Given the description of an element on the screen output the (x, y) to click on. 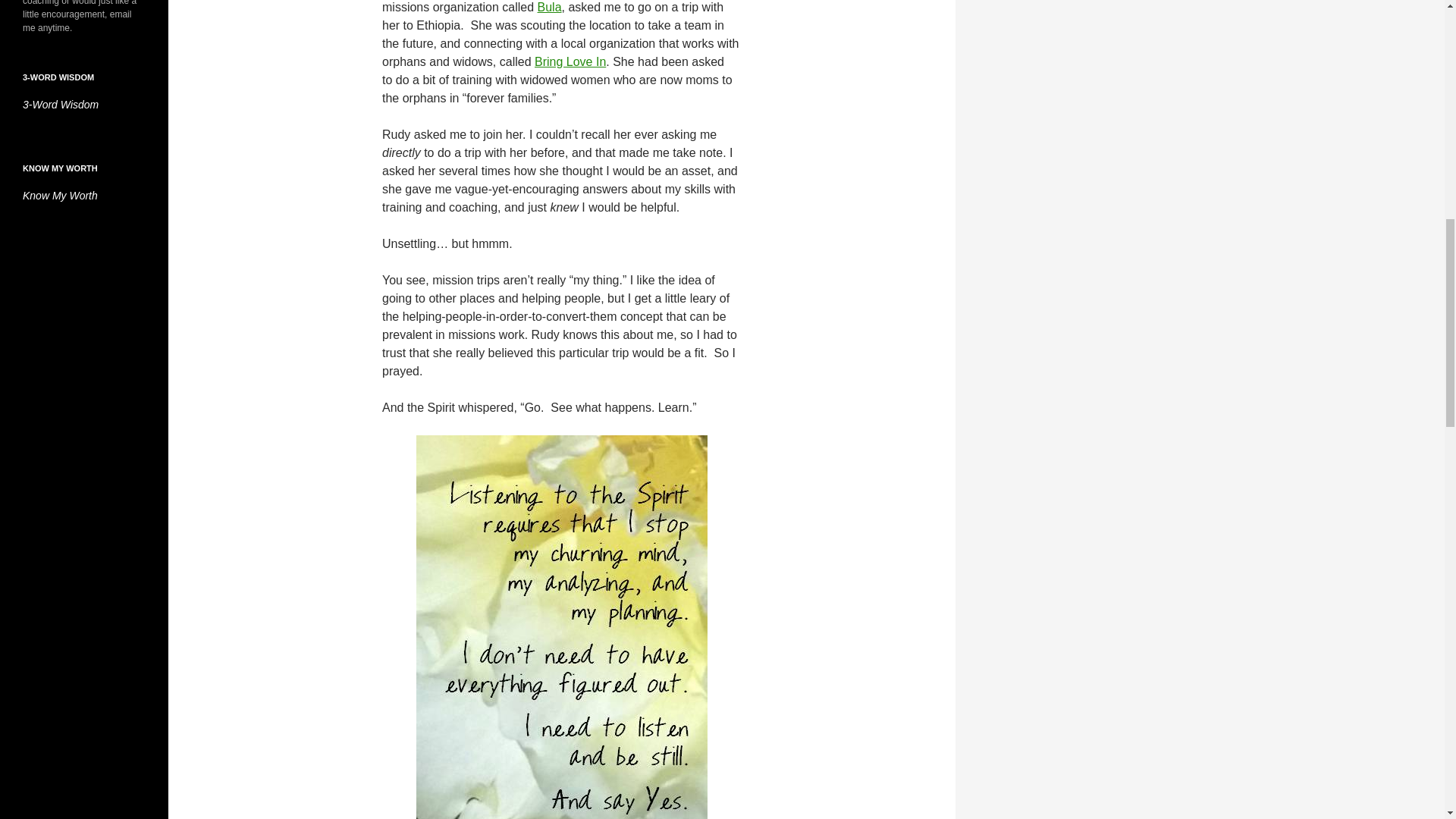
Bula (549, 6)
Bring Love In (569, 61)
3-Word Wisdom (61, 104)
3-WORD WISDOM (58, 76)
